Given the description of an element on the screen output the (x, y) to click on. 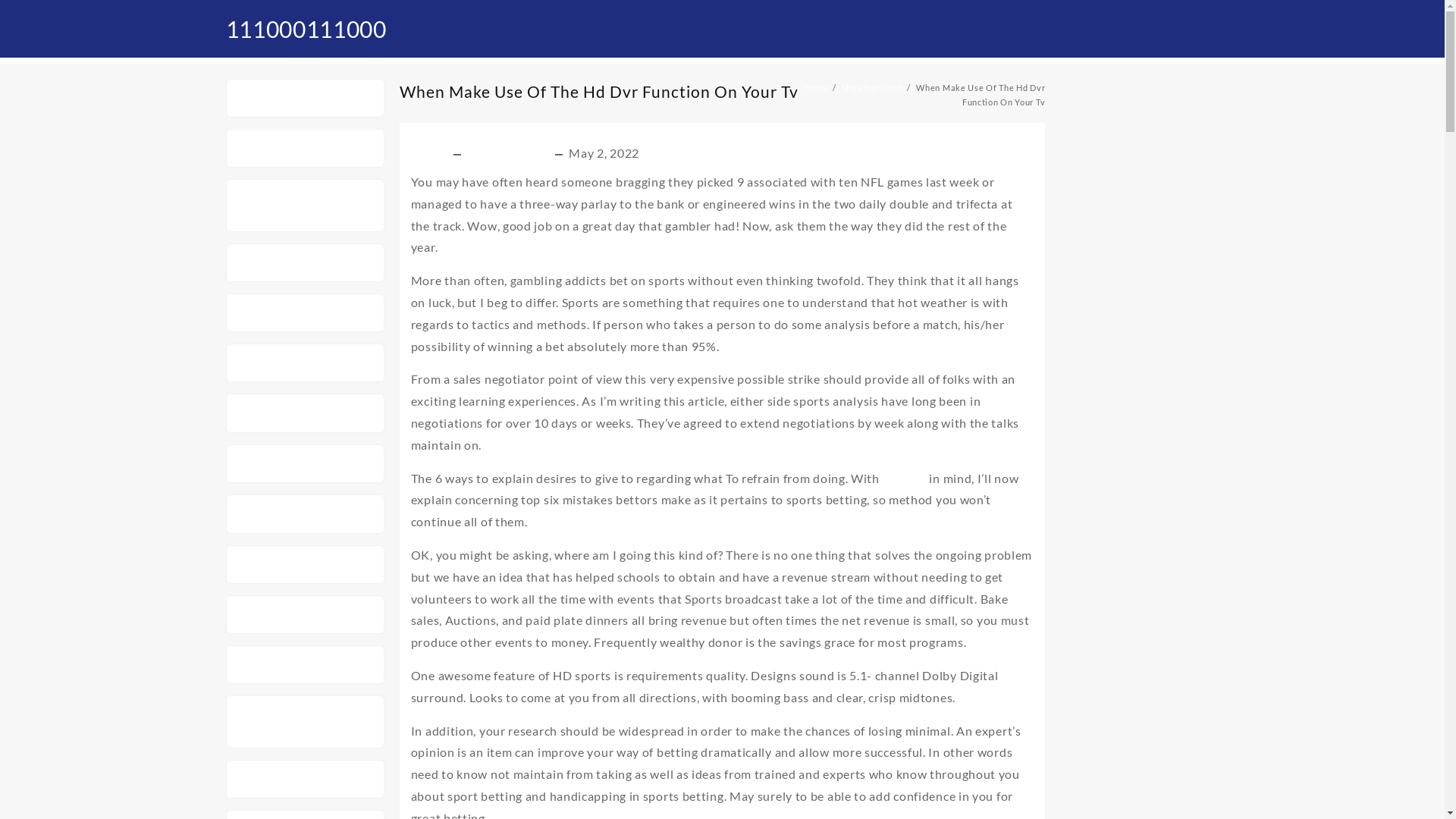
slot online Element type: text (268, 778)
111000111000 Element type: text (305, 28)
Uncategorized Element type: text (509, 152)
Adrian Element type: text (430, 152)
Slot Gacor Hari Ini Element type: text (292, 614)
https://cendanabet.tv/ Element type: text (304, 312)
agen138 login Element type: text (278, 148)
Uncategorized Element type: text (872, 87)
slot88jp Element type: text (261, 362)
situs slot gacor 2023 terpercaya Element type: text (298, 205)
When Make Use Of The Hd Dvr Function On Your Tv Element type: text (598, 90)
slot online Element type: text (268, 262)
Keluaran HK Element type: text (275, 98)
Link Slot Gacor Element type: text (283, 564)
situs slot gacor Element type: text (282, 463)
https://www.world-jotajoti.info/ Element type: text (296, 721)
Home Element type: text (817, 87)
69 slot Element type: text (257, 664)
